Given the description of an element on the screen output the (x, y) to click on. 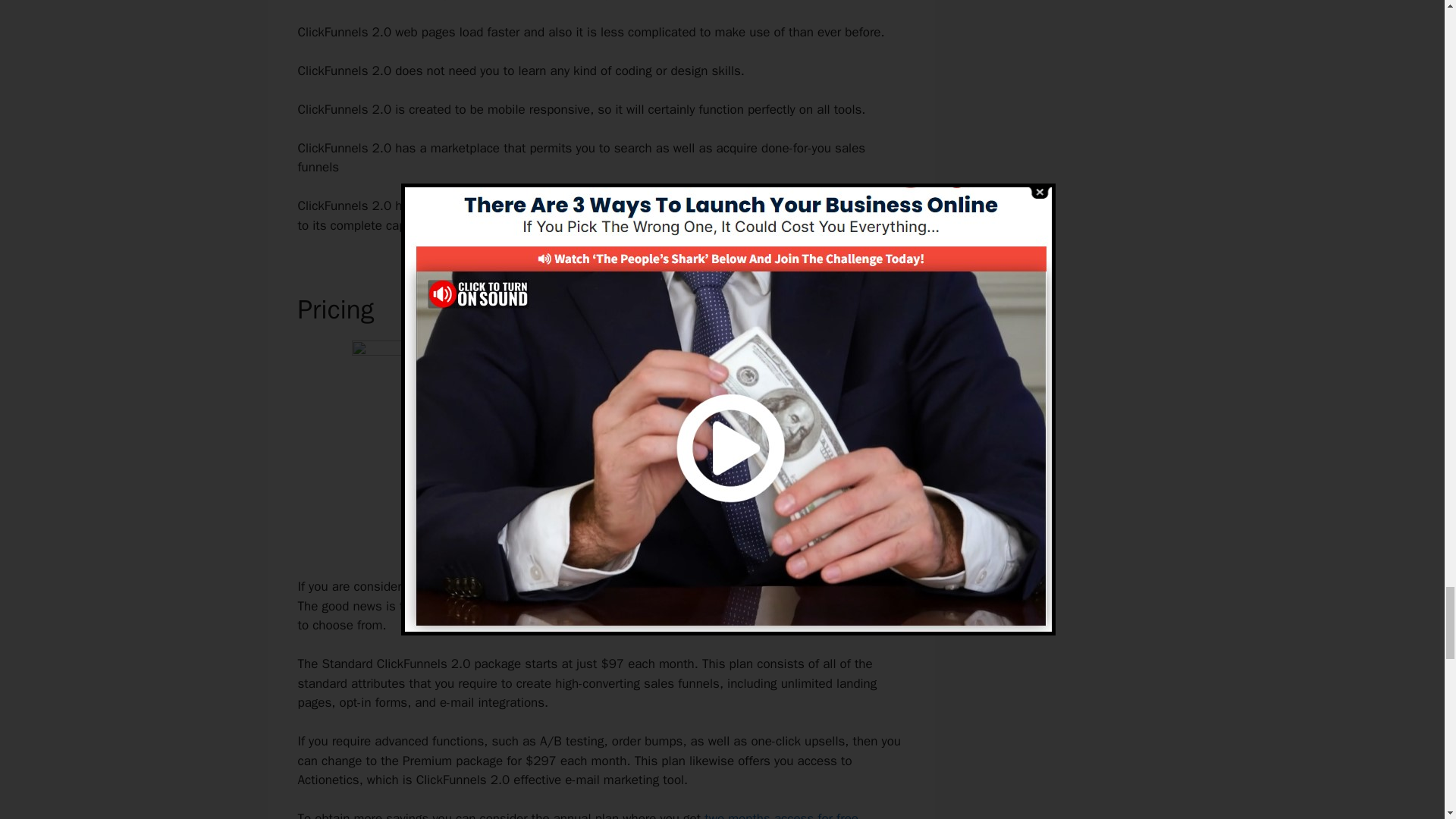
two months access for free (781, 814)
